Given the description of an element on the screen output the (x, y) to click on. 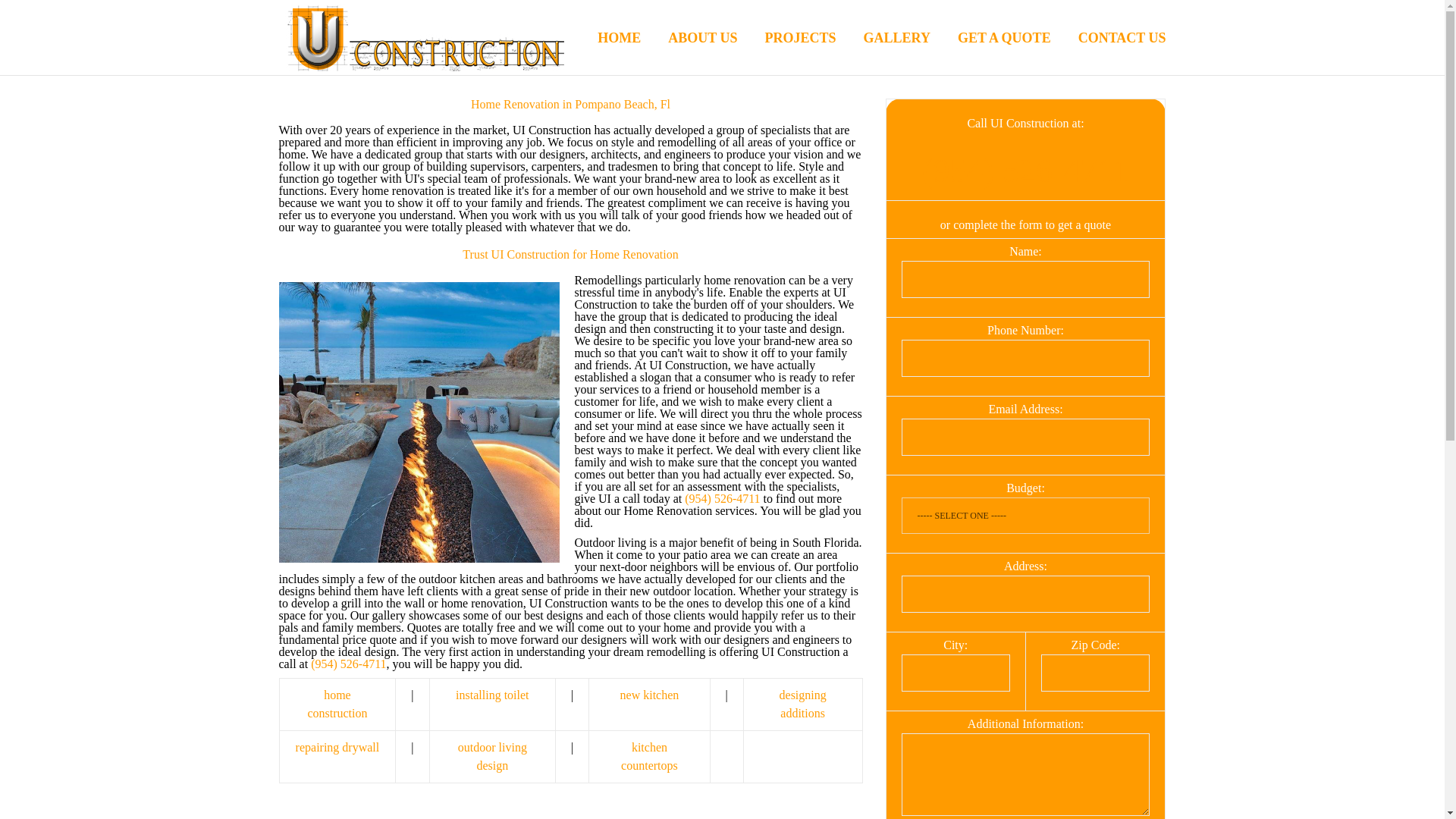
installing toilet (491, 694)
ABOUT US (688, 38)
repairing drywall (337, 747)
outdoor living design (492, 756)
home construction (336, 703)
new kitchen (649, 694)
CONTACT US (1108, 38)
GET A QUOTE (990, 38)
designing additions (802, 703)
kitchen countertops (649, 756)
GALLERY (882, 38)
HOME (605, 38)
PROJECTS (785, 38)
